Given the description of an element on the screen output the (x, y) to click on. 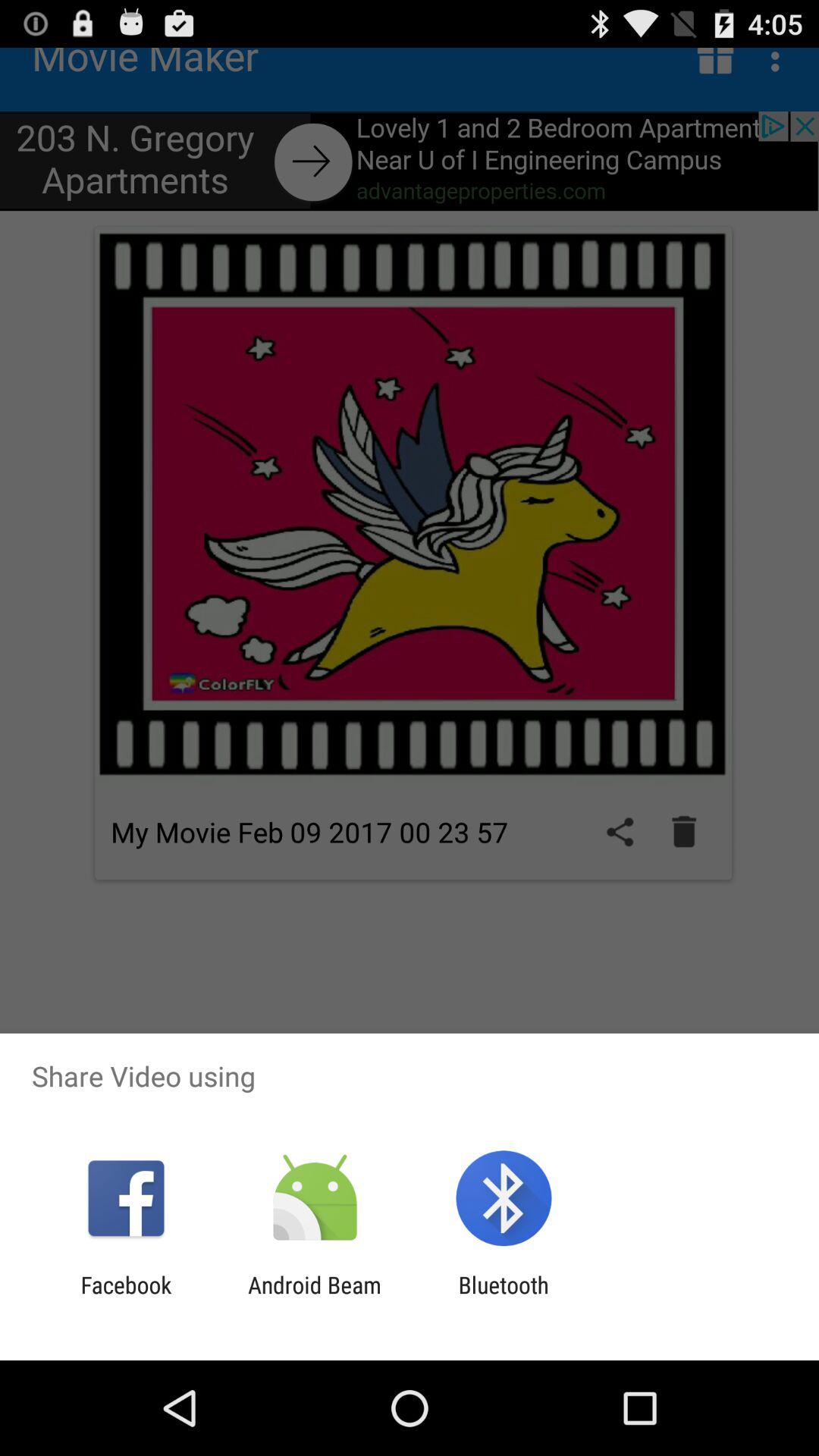
open the item next to the facebook item (314, 1298)
